Given the description of an element on the screen output the (x, y) to click on. 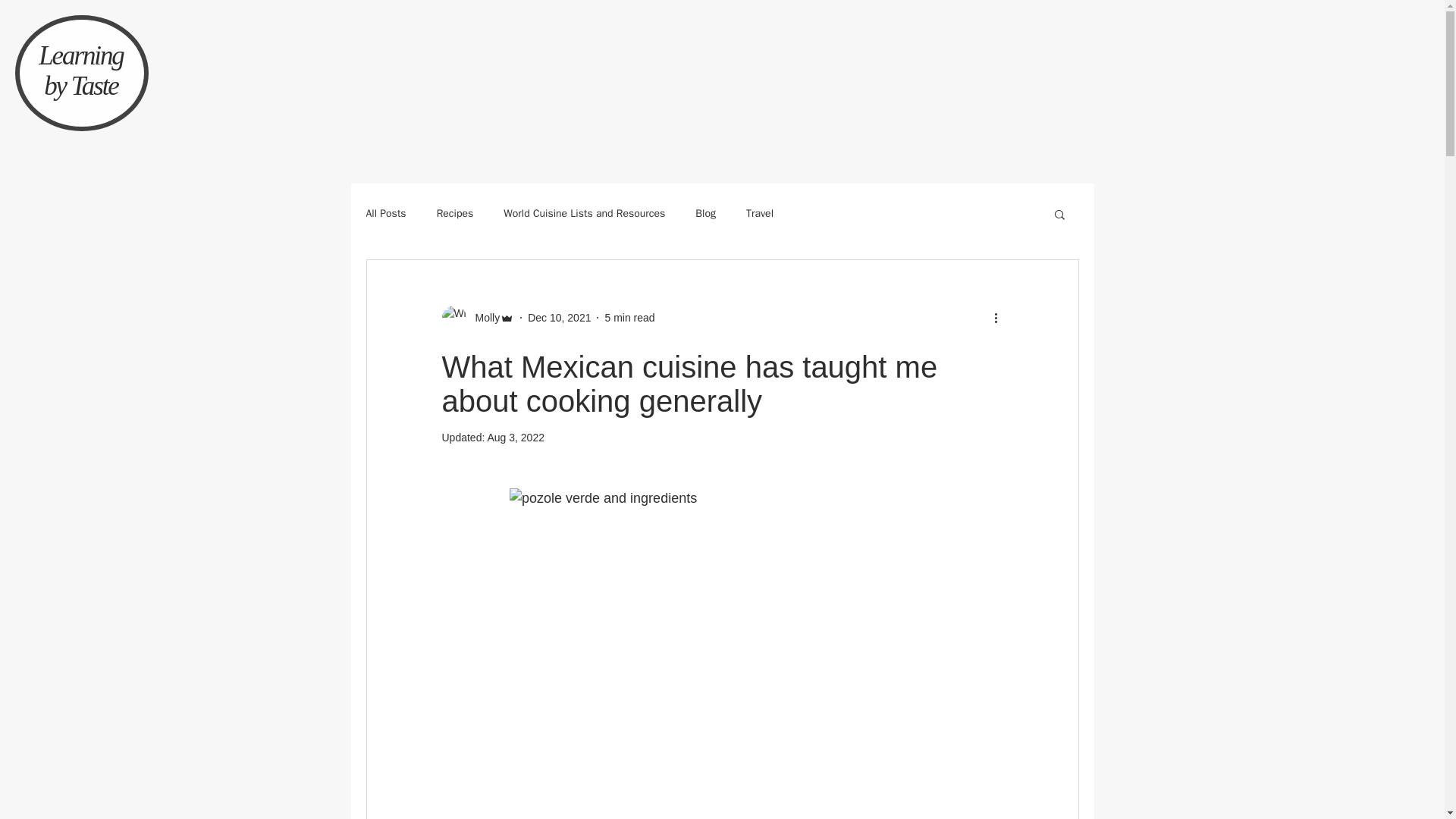
Aug 3, 2022 (515, 437)
All Posts (385, 213)
Blog (705, 213)
Taste (94, 85)
World Cuisine Lists and Resources (584, 213)
Recipes (455, 213)
Travel (759, 213)
Molly (477, 317)
Learning by (81, 70)
5 min read (628, 316)
Dec 10, 2021 (559, 316)
Molly (482, 317)
